Given the description of an element on the screen output the (x, y) to click on. 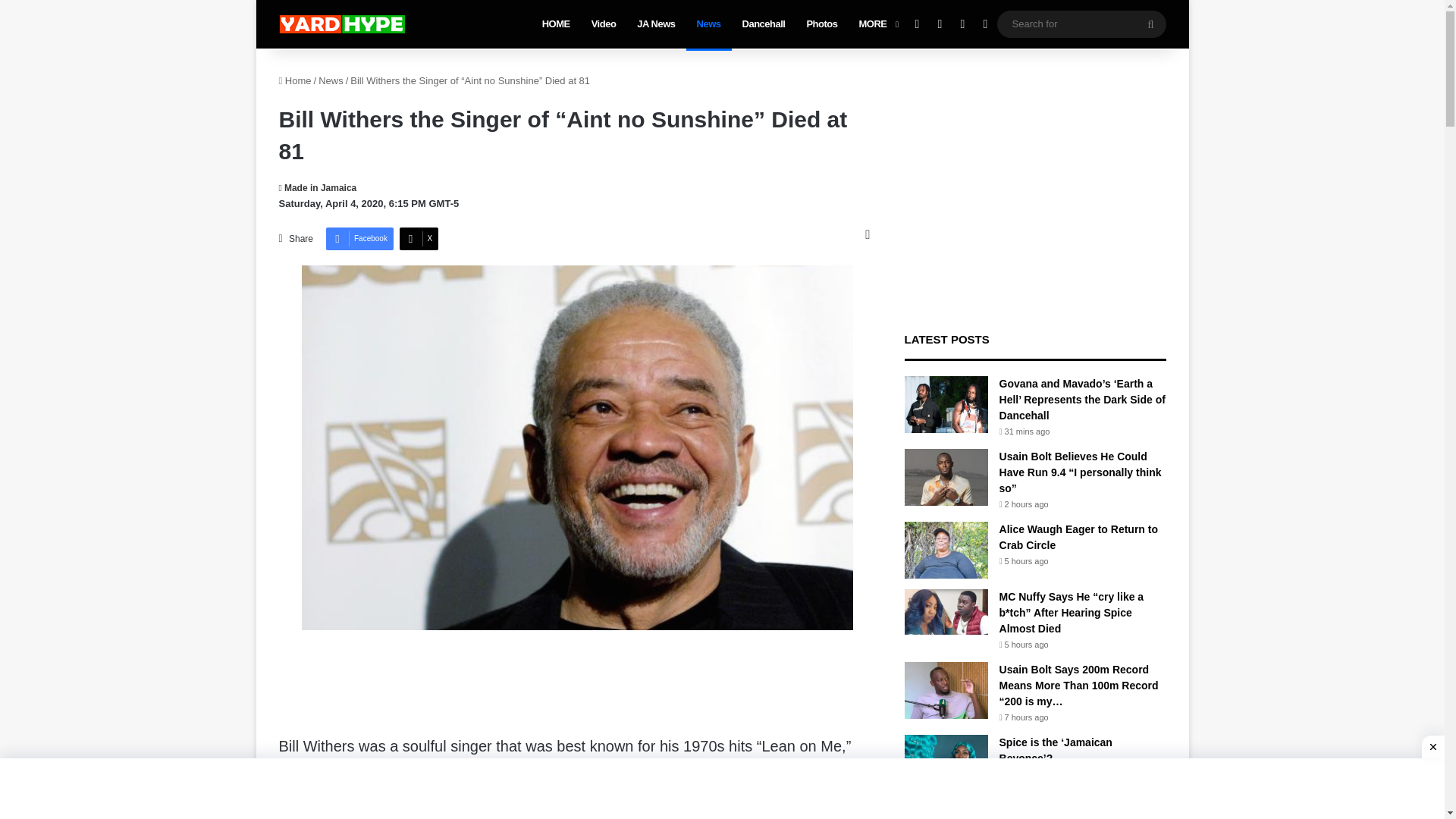
Made in Jamaica (317, 187)
Search for (1080, 23)
Advertisement (574, 686)
JA News (655, 24)
Made in Jamaica (317, 187)
News (708, 24)
MORE (876, 24)
Dancehall (764, 24)
HOME (555, 24)
News (330, 80)
Facebook (359, 238)
Photos (820, 24)
X (418, 238)
Facebook (359, 238)
X (418, 238)
